Given the description of an element on the screen output the (x, y) to click on. 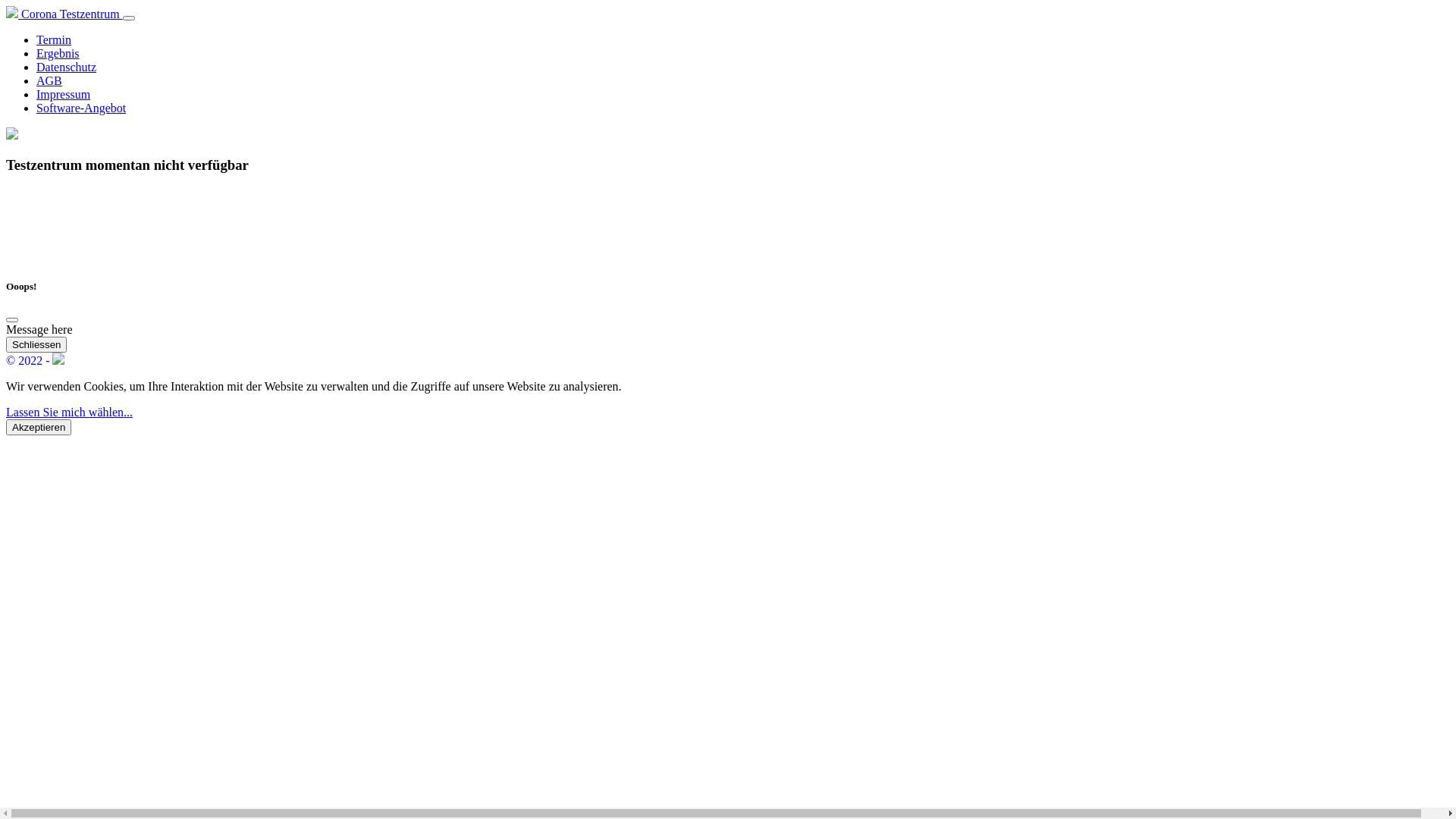
Schliessen Element type: text (36, 344)
Software-Angebot Element type: text (80, 107)
Termin Element type: text (53, 39)
Akzeptieren Element type: text (38, 427)
Datenschutz Element type: text (66, 66)
Ergebnis Element type: text (57, 53)
AGB Element type: text (49, 80)
Impressum Element type: text (63, 93)
Corona Testzentrum Element type: text (64, 13)
